Given the description of an element on the screen output the (x, y) to click on. 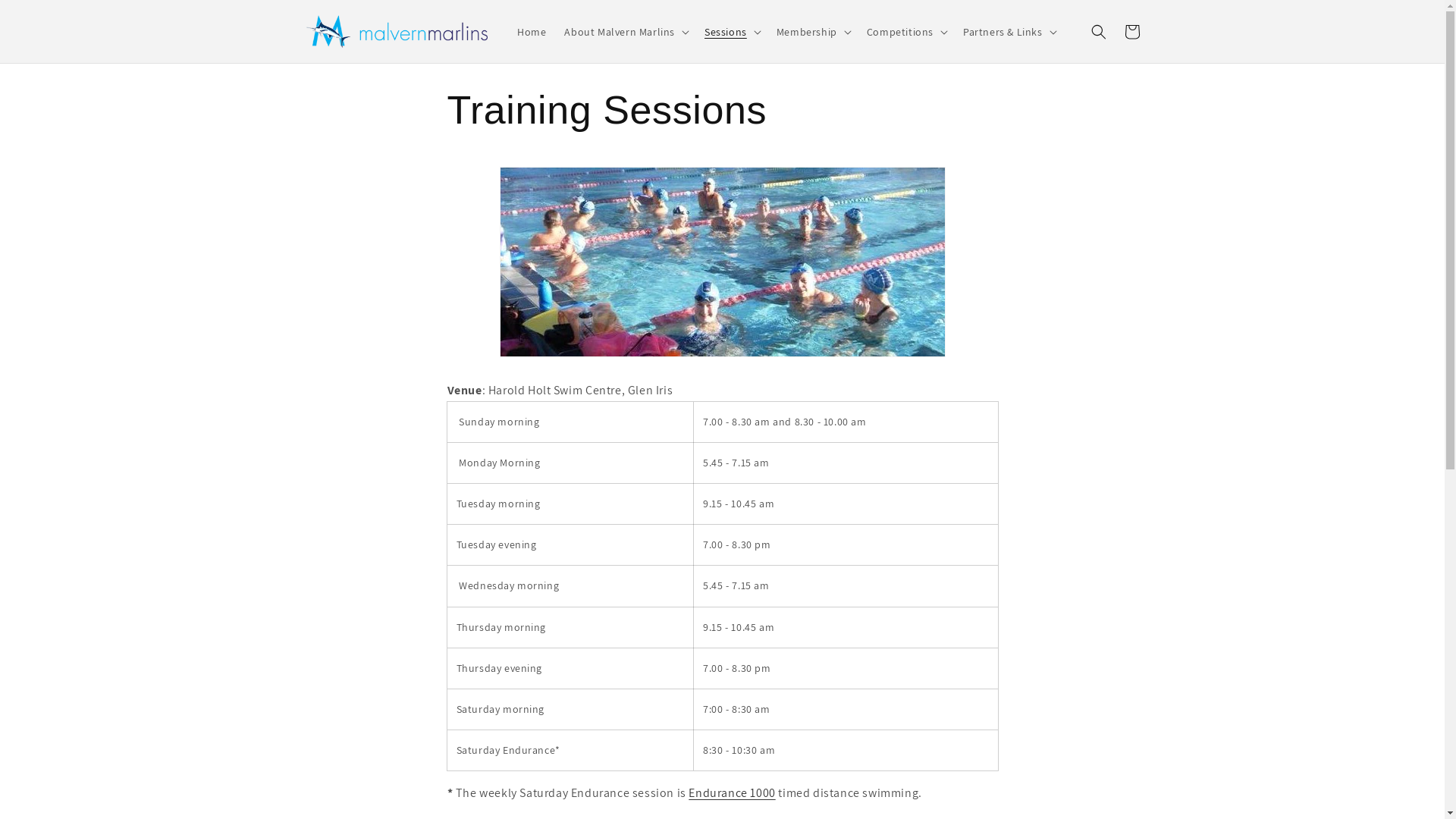
Home Element type: text (531, 31)
Endurance 1000 Element type: text (731, 792)
Cart Element type: text (1131, 31)
